Given the description of an element on the screen output the (x, y) to click on. 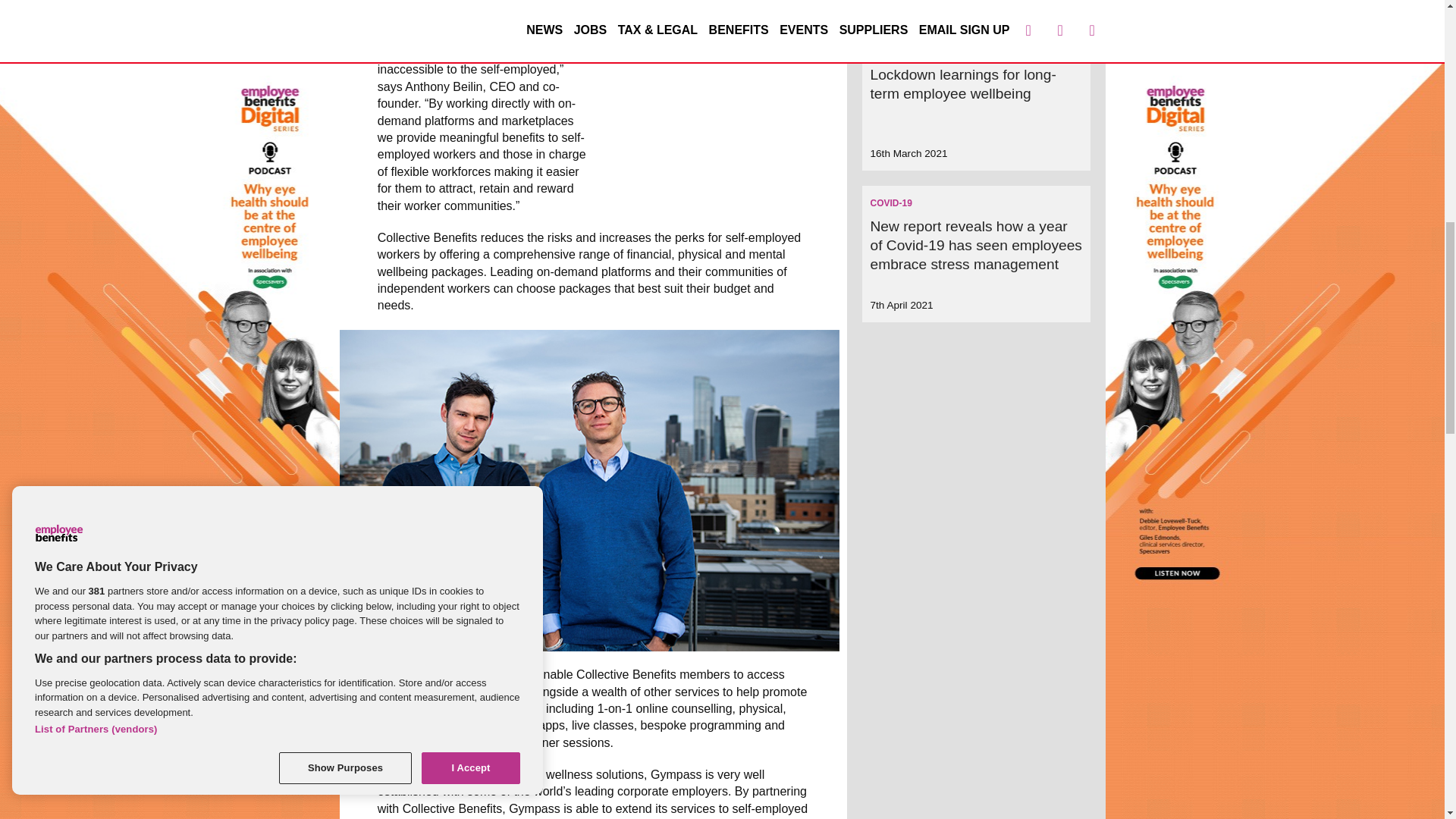
COVID-19 (890, 50)
Lockdown learnings for long-term employee wellbeing (962, 83)
COVID-19 (890, 203)
3rd party ad content (717, 91)
